Given the description of an element on the screen output the (x, y) to click on. 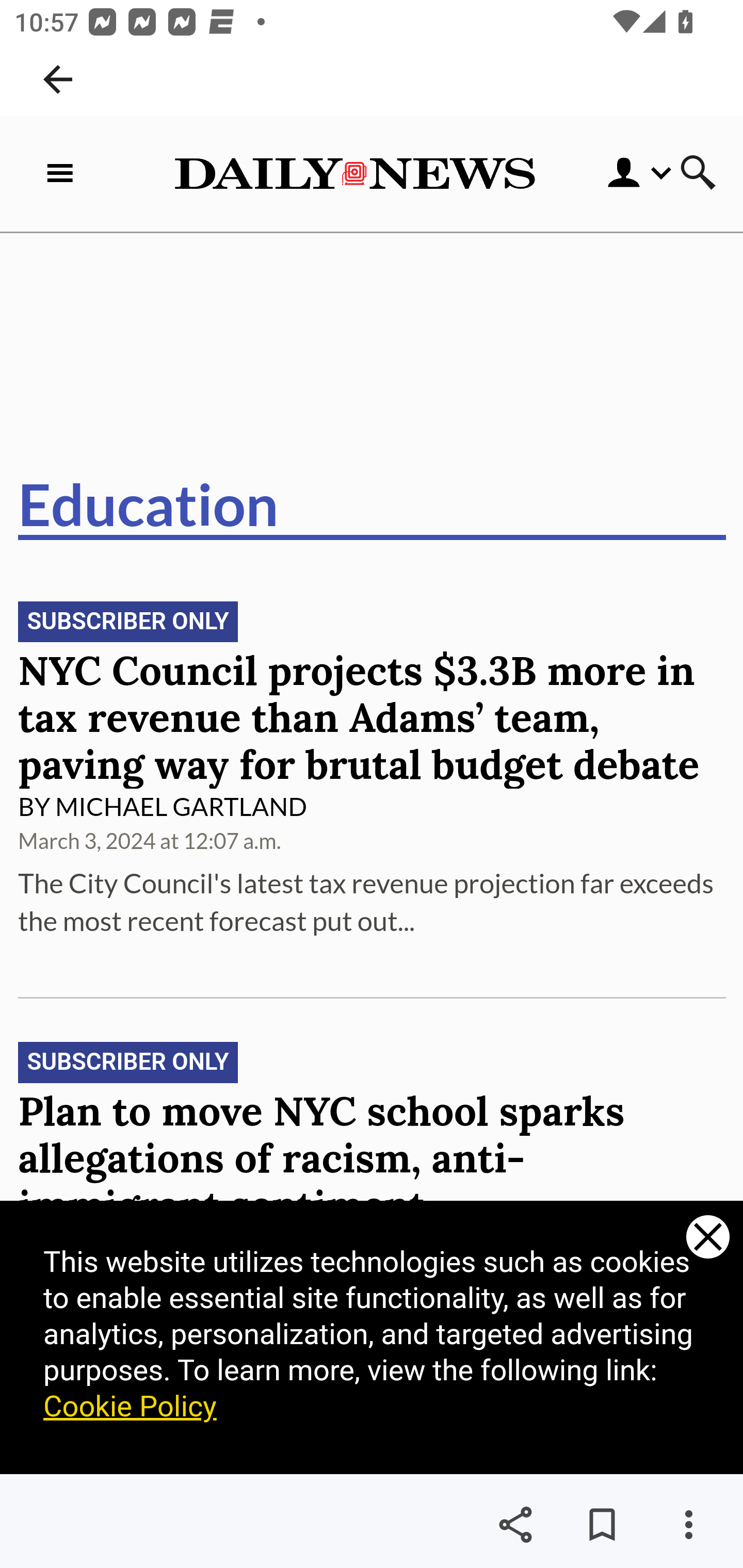
Navigate up (57, 79)
Open menu of all sections (63, 173)
Open menu (625, 173)
Click here or hit enter to open a Search box (697, 173)
New York Daily News (354, 172)
MICHAEL GARTLAND (181, 806)
Close this dialog (708, 1237)
Cookie Policy (130, 1406)
Share (514, 1524)
Save for later (601, 1524)
More options (688, 1524)
